Given the description of an element on the screen output the (x, y) to click on. 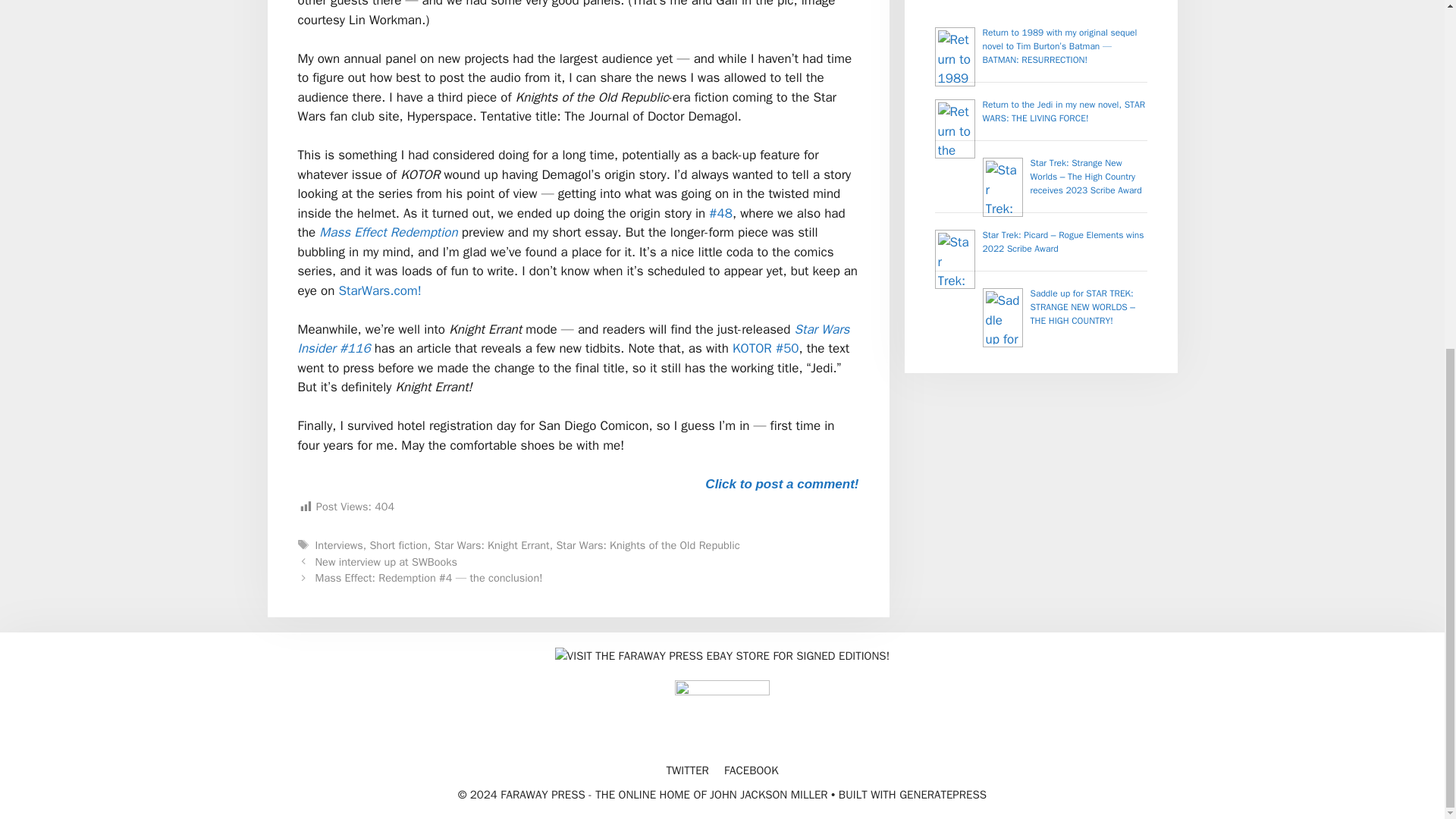
TWITTER (686, 770)
Short fiction (397, 545)
Interviews (338, 545)
Click to post a comment! (781, 483)
StarWars.com! (378, 290)
FACEBOOK (750, 770)
Star Wars: Knight Errant (490, 545)
New interview up at SWBooks (386, 561)
GENERATEPRESS (943, 794)
